Given the description of an element on the screen output the (x, y) to click on. 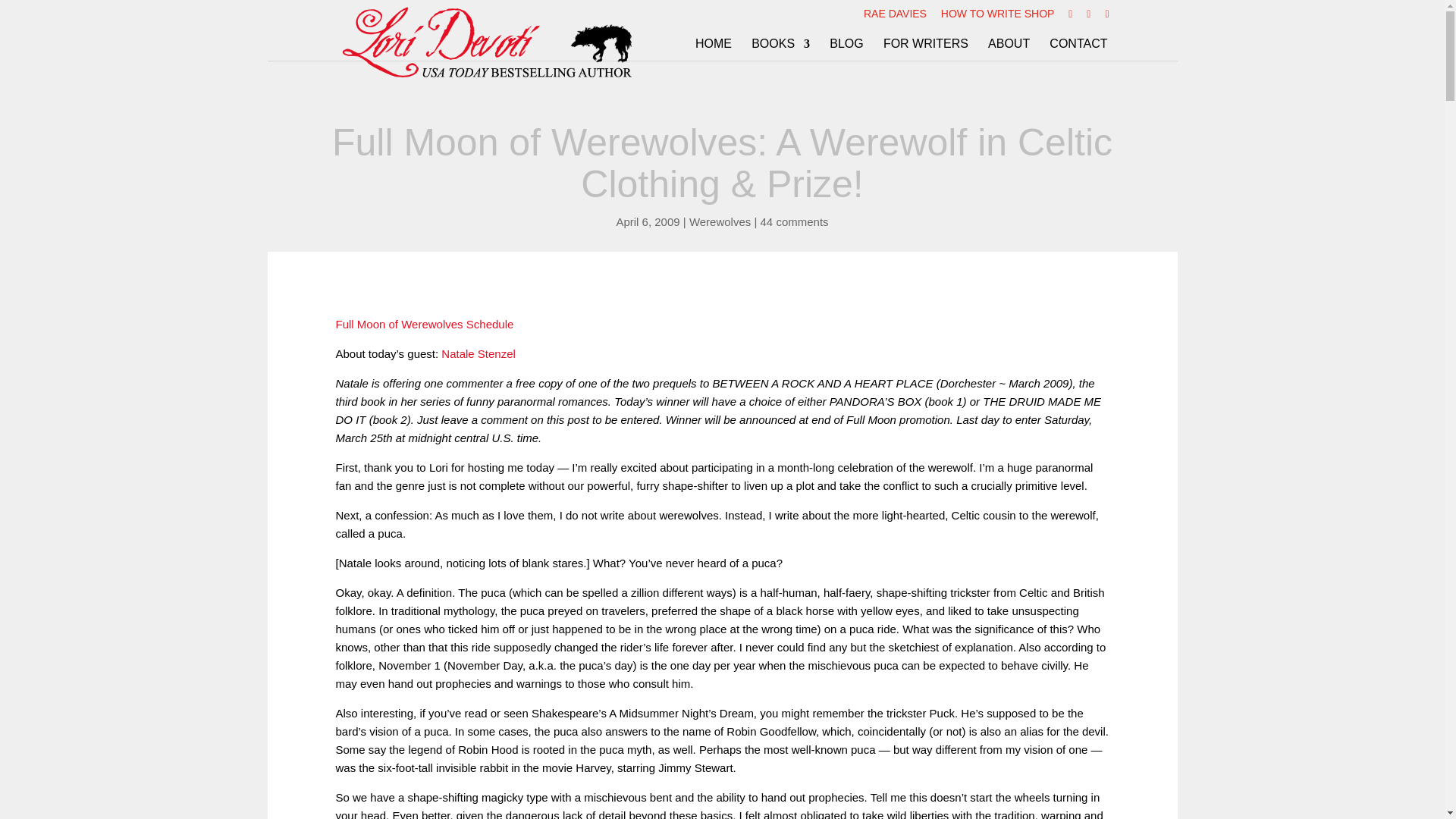
HOW TO WRITE SHOP (997, 16)
ABOUT (1008, 49)
RAE DAVIES (894, 16)
BOOKS (780, 49)
FOR WRITERS (925, 49)
CONTACT (1077, 49)
HOME (713, 49)
BLOG (846, 49)
